Given the description of an element on the screen output the (x, y) to click on. 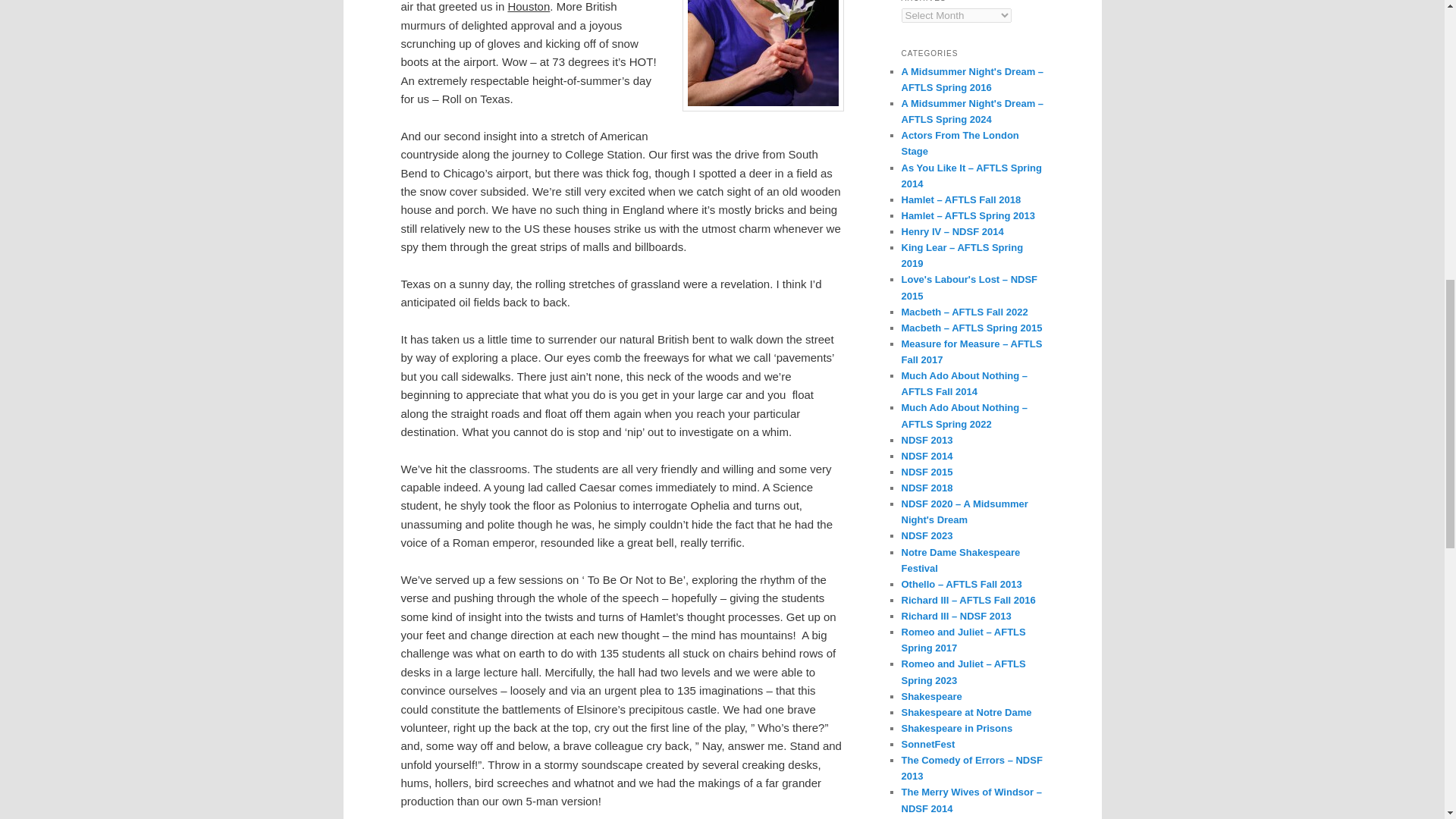
Actors From The London Stage (959, 143)
ShunaSnow (763, 55)
